Given the description of an element on the screen output the (x, y) to click on. 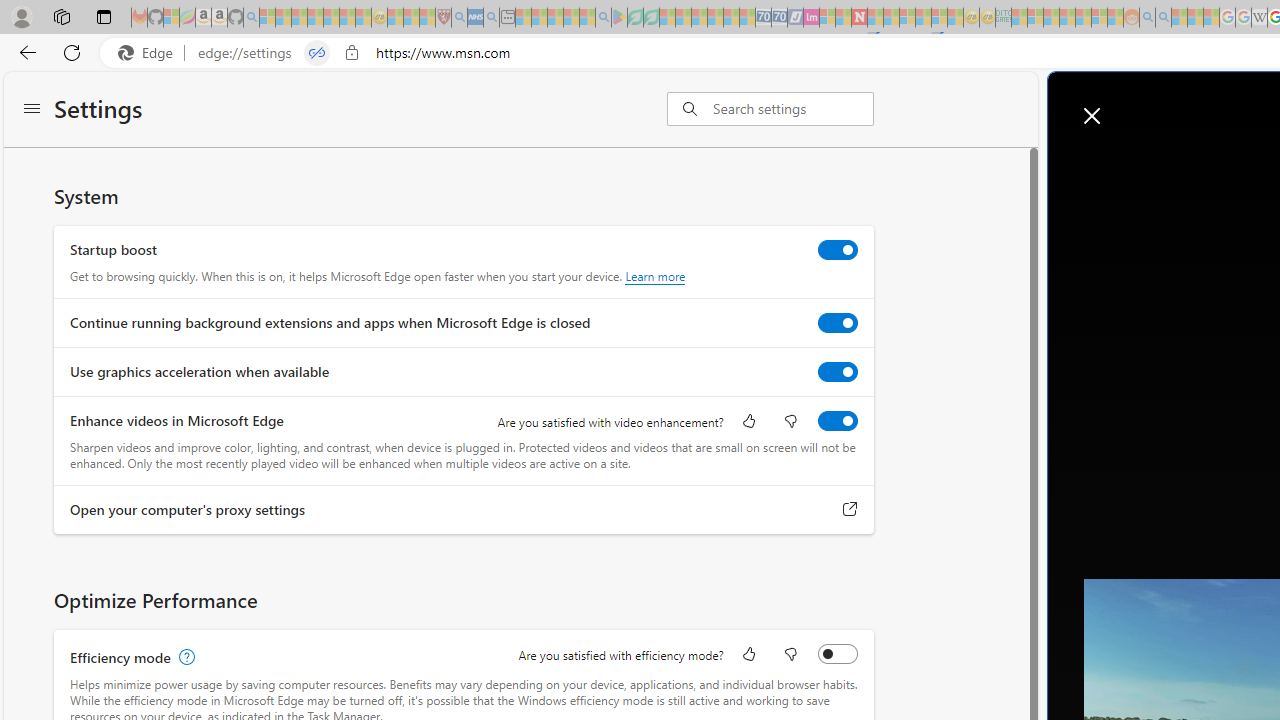
Class: control icon-only (1092, 115)
Enhance videos in Microsoft Edge (837, 421)
